Given the description of an element on the screen output the (x, y) to click on. 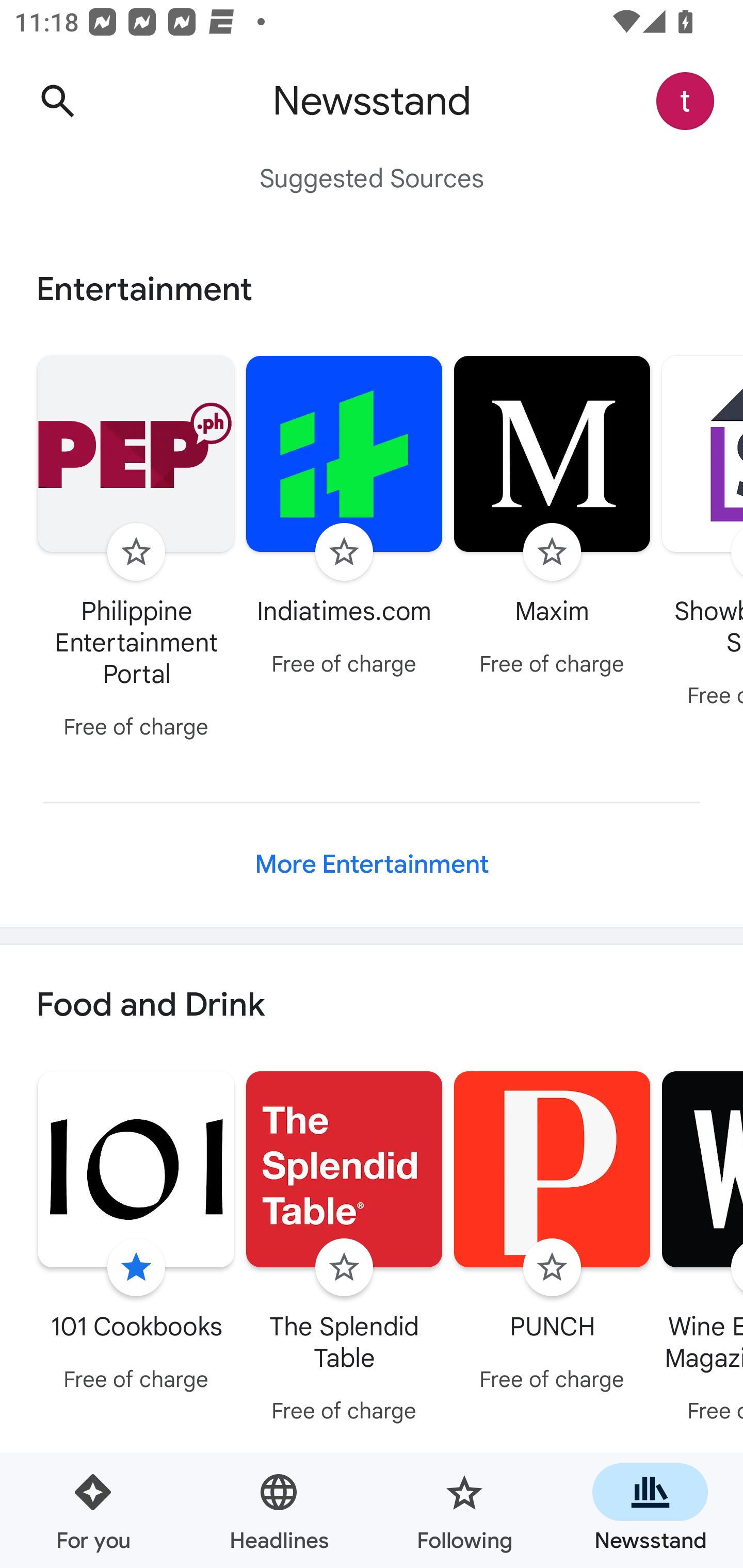
Search (57, 100)
Entertainment (371, 288)
Follow Indiatimes.com Free of charge (344, 517)
Follow Maxim Free of charge (552, 517)
Follow (135, 551)
Follow (343, 551)
Follow (552, 551)
More Entertainment (371, 864)
Food and Drink (371, 1005)
Unfollow 101 Cookbooks Free of charge (136, 1234)
Follow The Splendid Table Free of charge (344, 1250)
Follow PUNCH Free of charge (552, 1234)
Unfollow (135, 1267)
Follow (343, 1267)
Follow (552, 1267)
For you (92, 1509)
Headlines (278, 1509)
Following (464, 1509)
Newsstand (650, 1509)
